Given the description of an element on the screen output the (x, y) to click on. 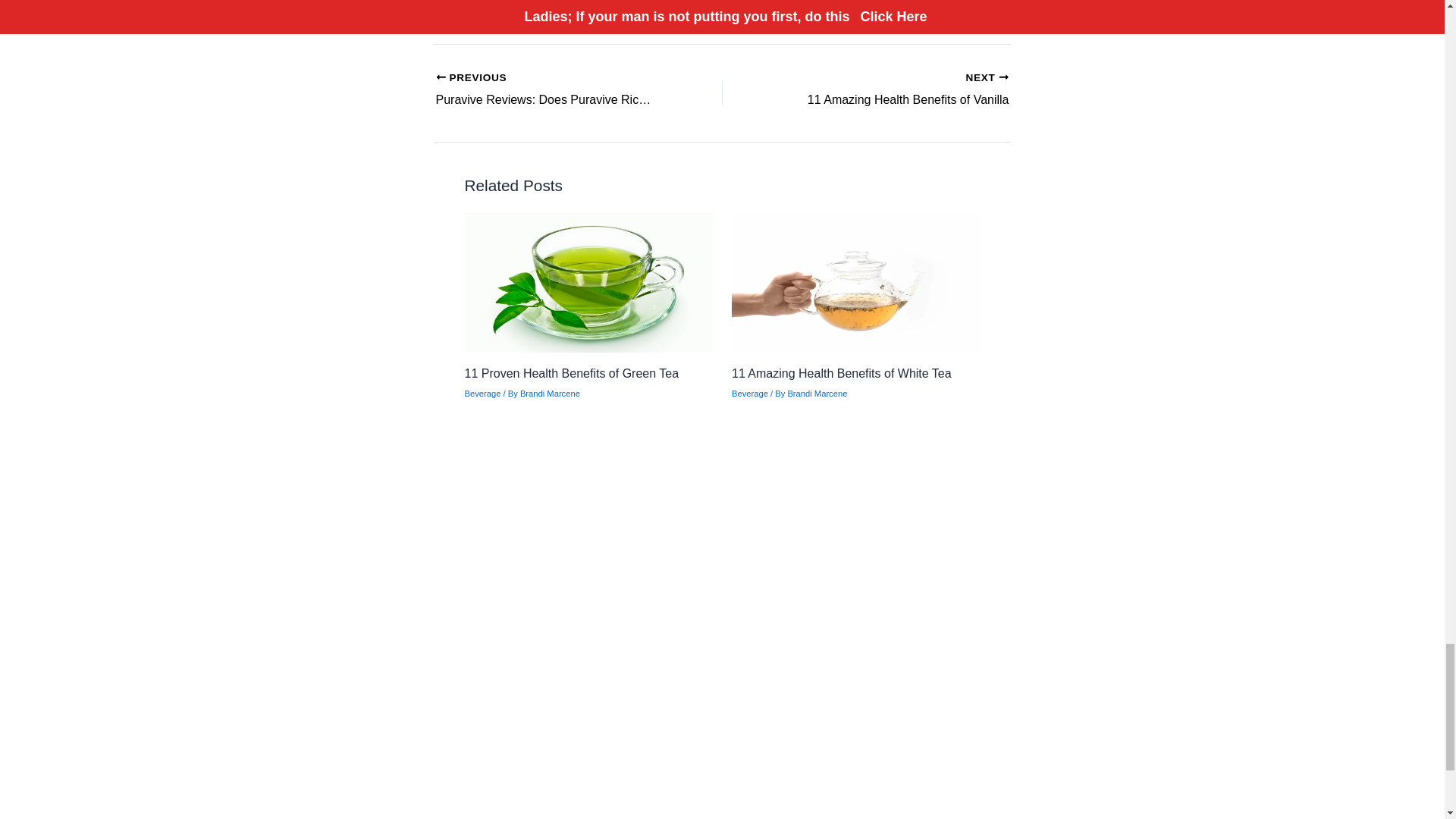
Brandi Marcene (817, 393)
11 Amazing Health Benefits of Vanilla (893, 89)
11 Proven Health Benefits of Green Tea (571, 373)
Brandi Marcene (549, 393)
Puravive Reviews: Does Puravive Rice Hack Work? (550, 89)
11 Amazing Health Benefits of White Tea (550, 89)
Beverage (842, 373)
View all posts by Brandi Marcene (750, 393)
Beverage (817, 393)
